Given the description of an element on the screen output the (x, y) to click on. 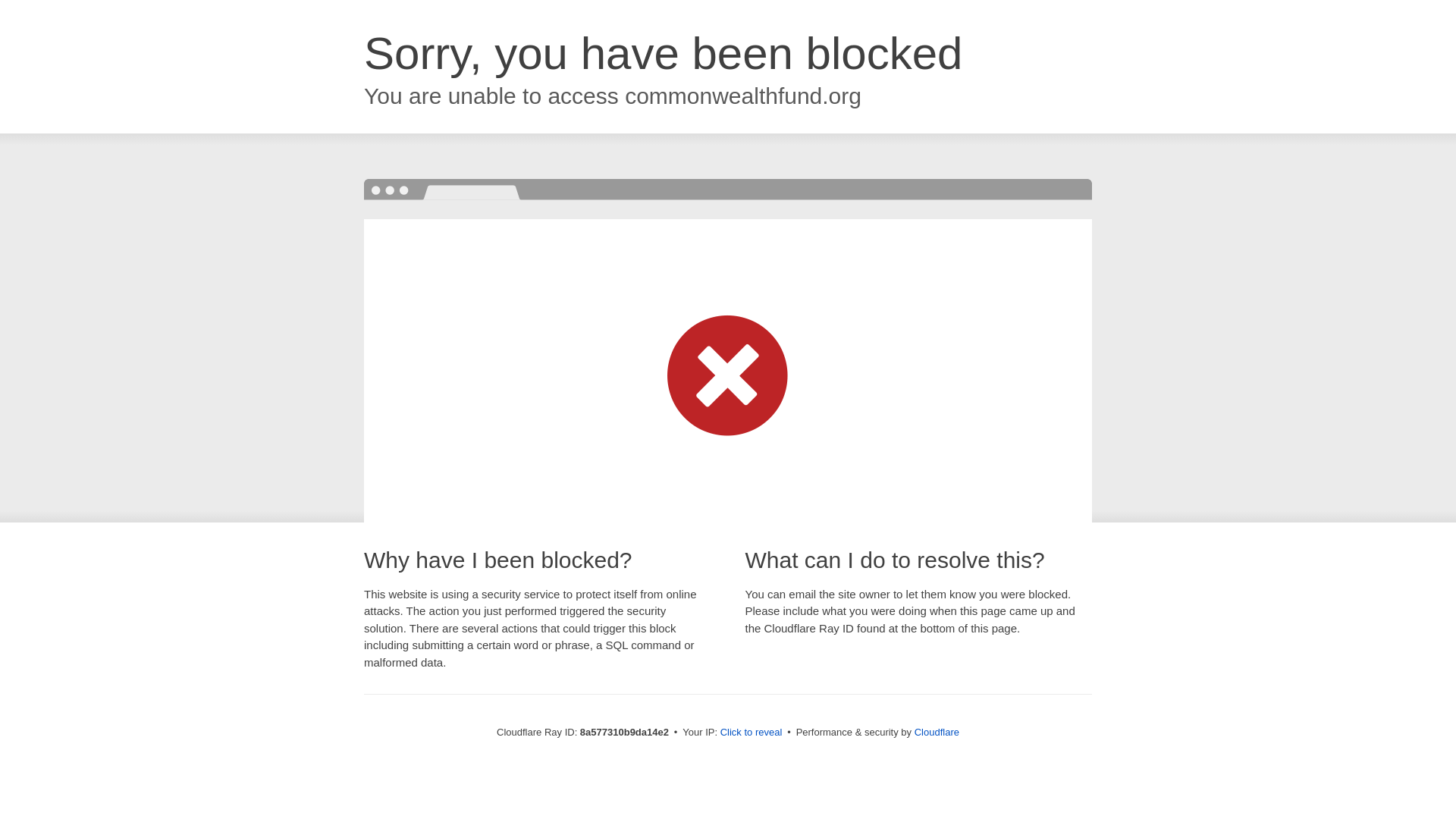
Cloudflare (936, 731)
Click to reveal (751, 732)
